Given the description of an element on the screen output the (x, y) to click on. 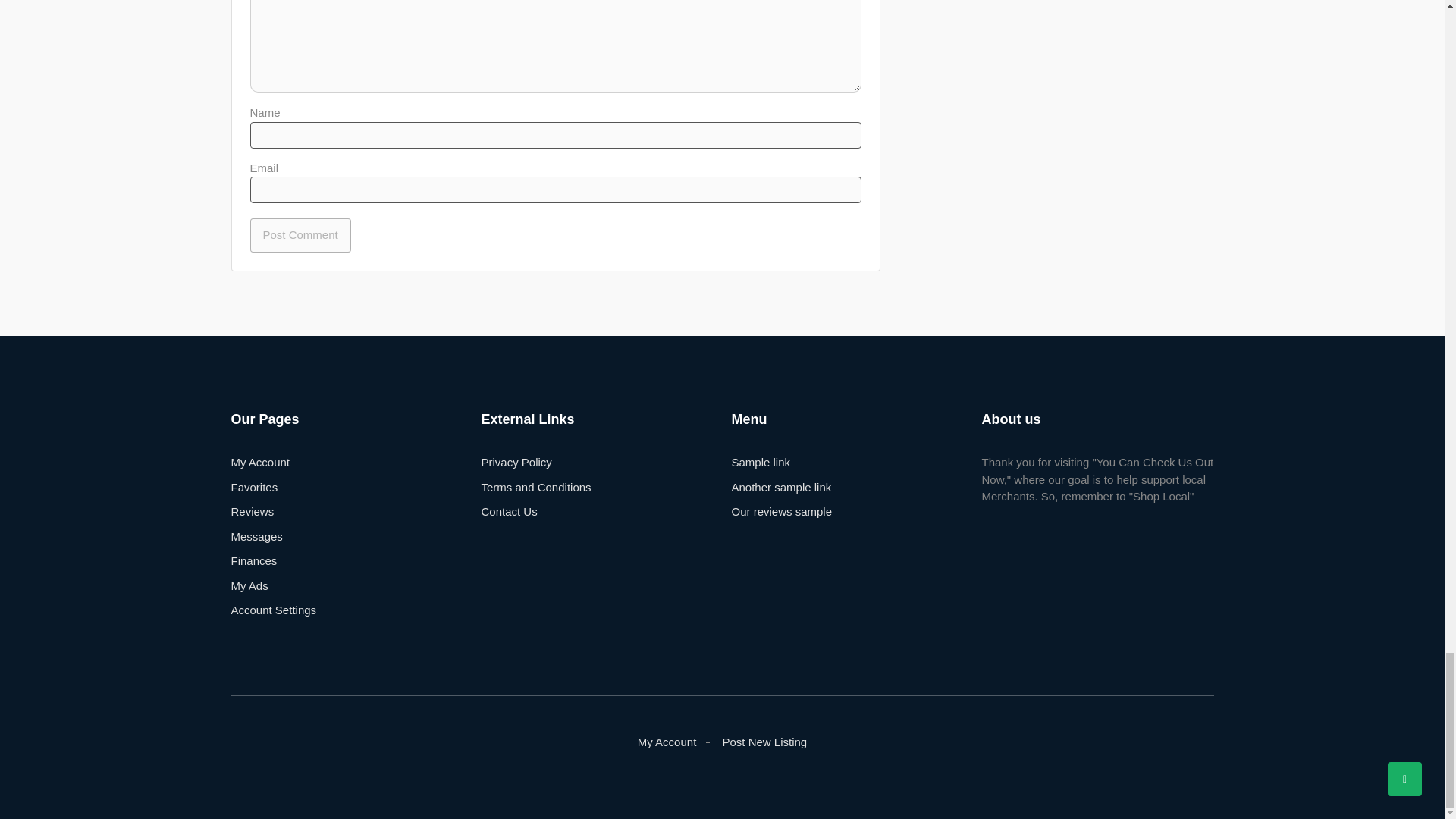
Post Comment (300, 235)
Post Comment (300, 235)
